Given the description of an element on the screen output the (x, y) to click on. 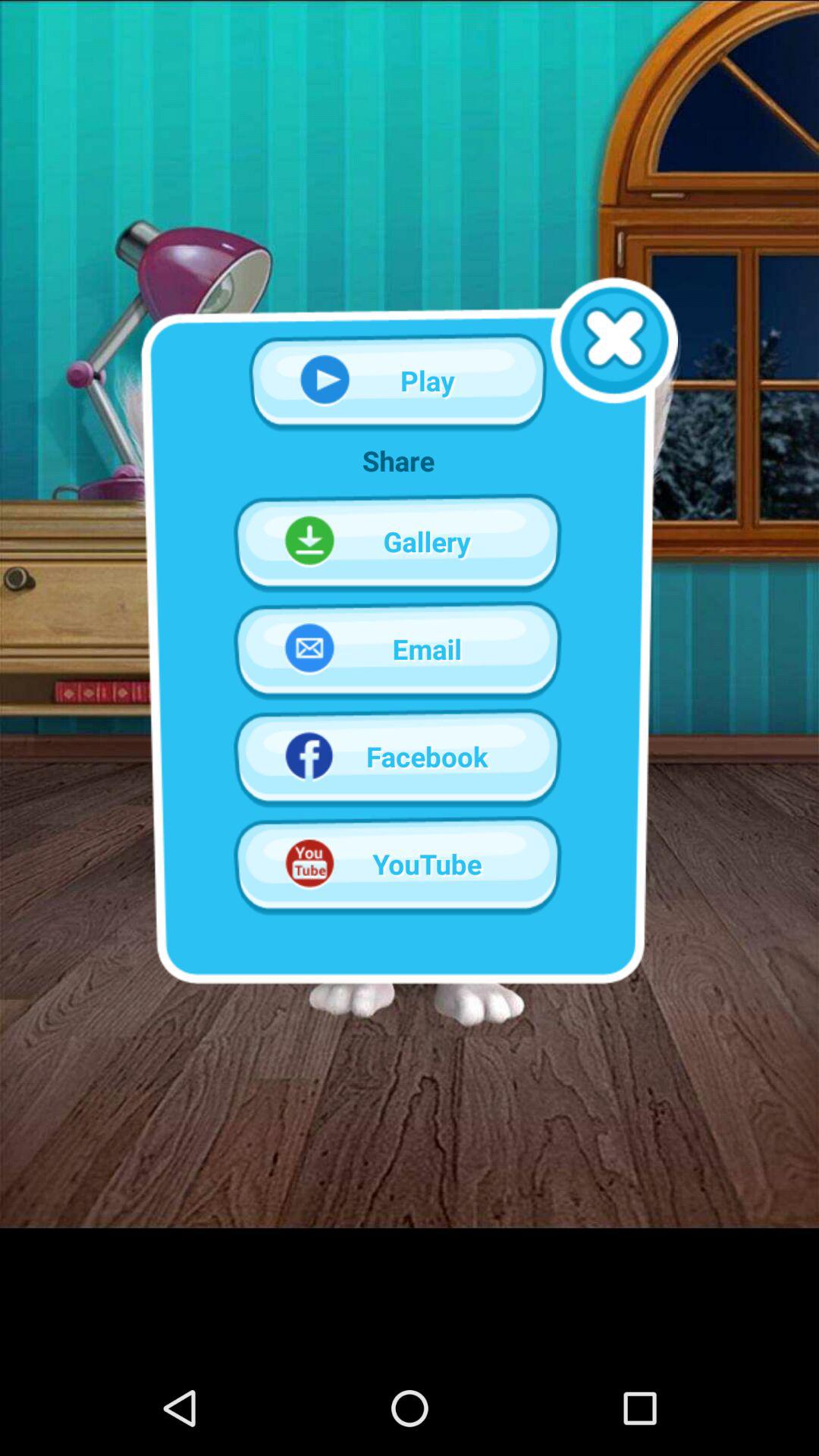
closes the pop-up (613, 340)
